Given the description of an element on the screen output the (x, y) to click on. 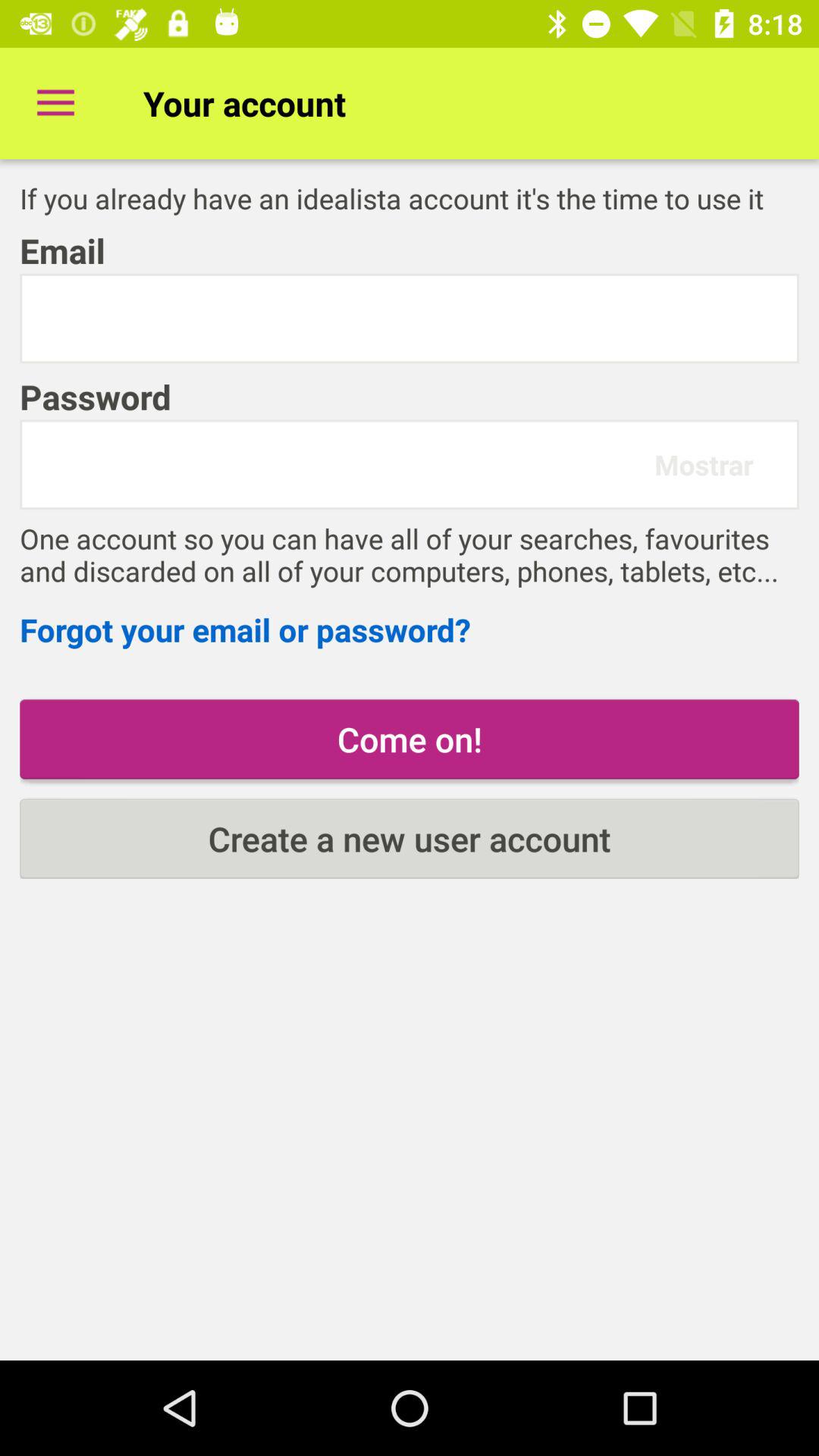
type password (343, 464)
